Given the description of an element on the screen output the (x, y) to click on. 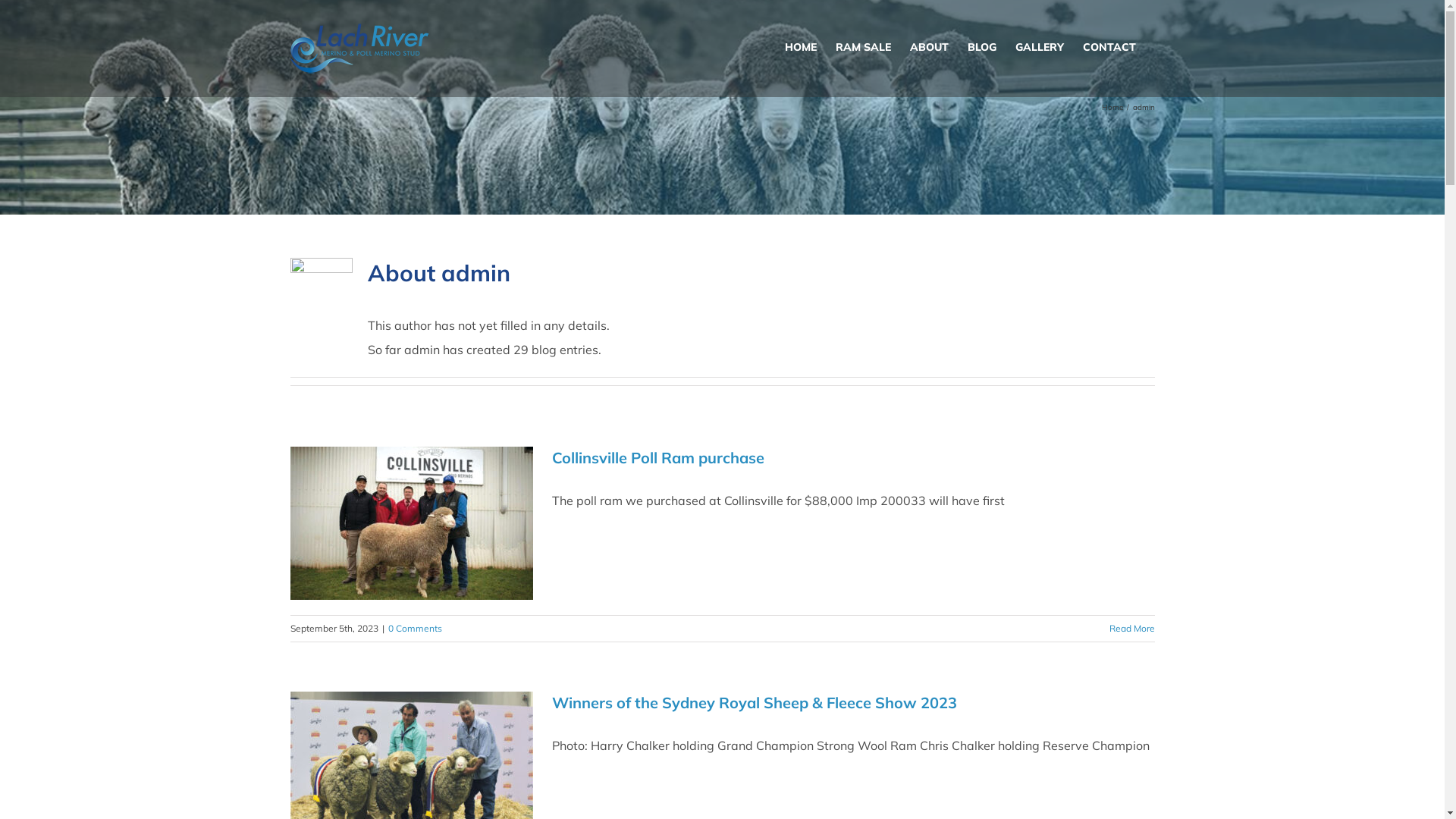
ABOUT Element type: text (929, 46)
CONTACT Element type: text (1108, 46)
Home Element type: text (1111, 106)
Read More Element type: text (1131, 627)
Winners of the Sydney Royal Sheep & Fleece Show 2023 Element type: text (754, 702)
0 Comments Element type: text (415, 627)
RAM SALE Element type: text (863, 46)
GALLERY Element type: text (1038, 46)
HOME Element type: text (799, 46)
BLOG Element type: text (981, 46)
Collinsville Poll Ram purchase Element type: text (658, 457)
